Given the description of an element on the screen output the (x, y) to click on. 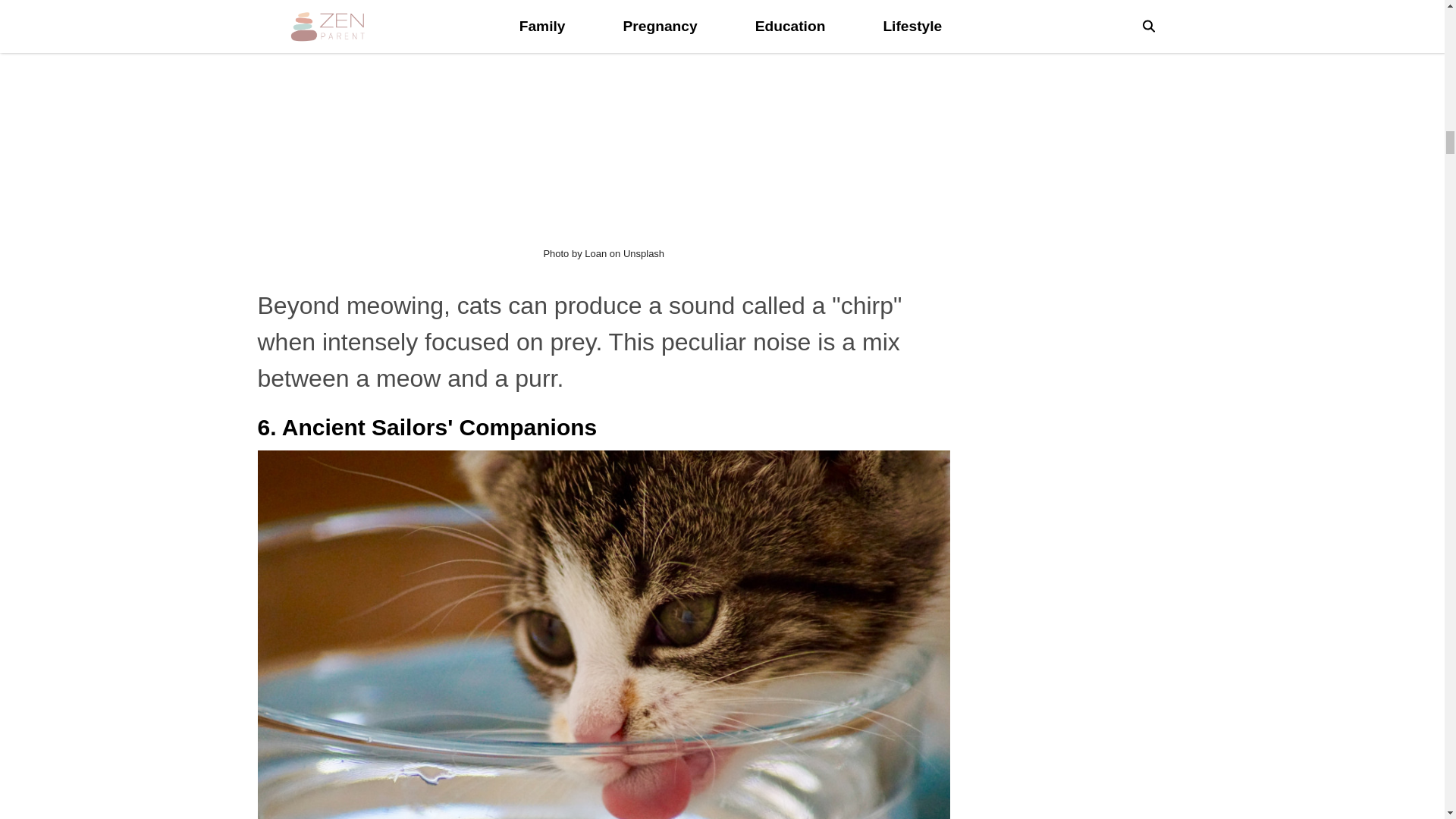
Photo by Loan on Unsplash (603, 253)
